Given the description of an element on the screen output the (x, y) to click on. 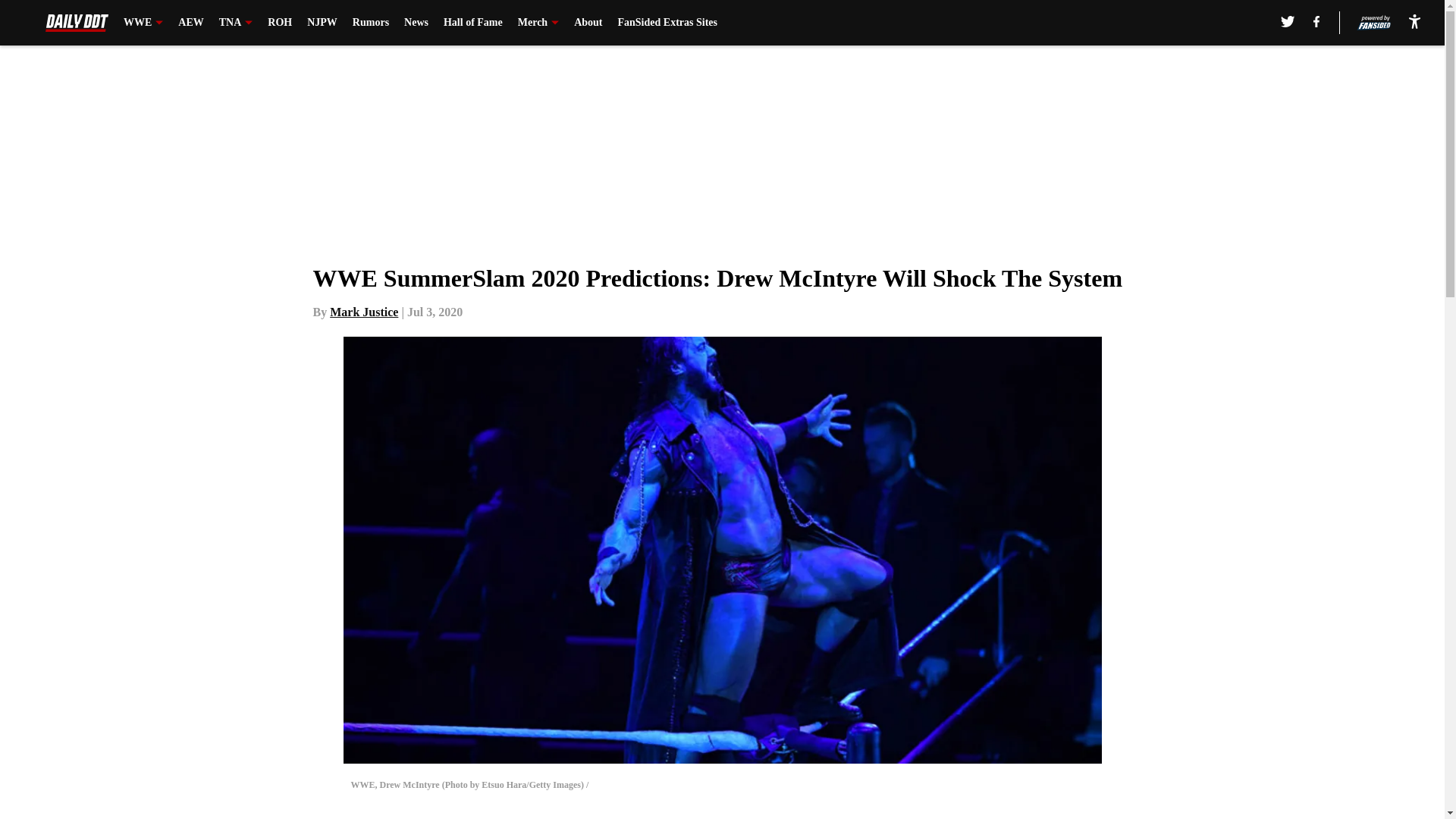
AEW (190, 22)
ROH (279, 22)
NJPW (322, 22)
About (587, 22)
News (416, 22)
Hall of Fame (473, 22)
Rumors (370, 22)
Mark Justice (363, 311)
FanSided Extras Sites (666, 22)
